Given the description of an element on the screen output the (x, y) to click on. 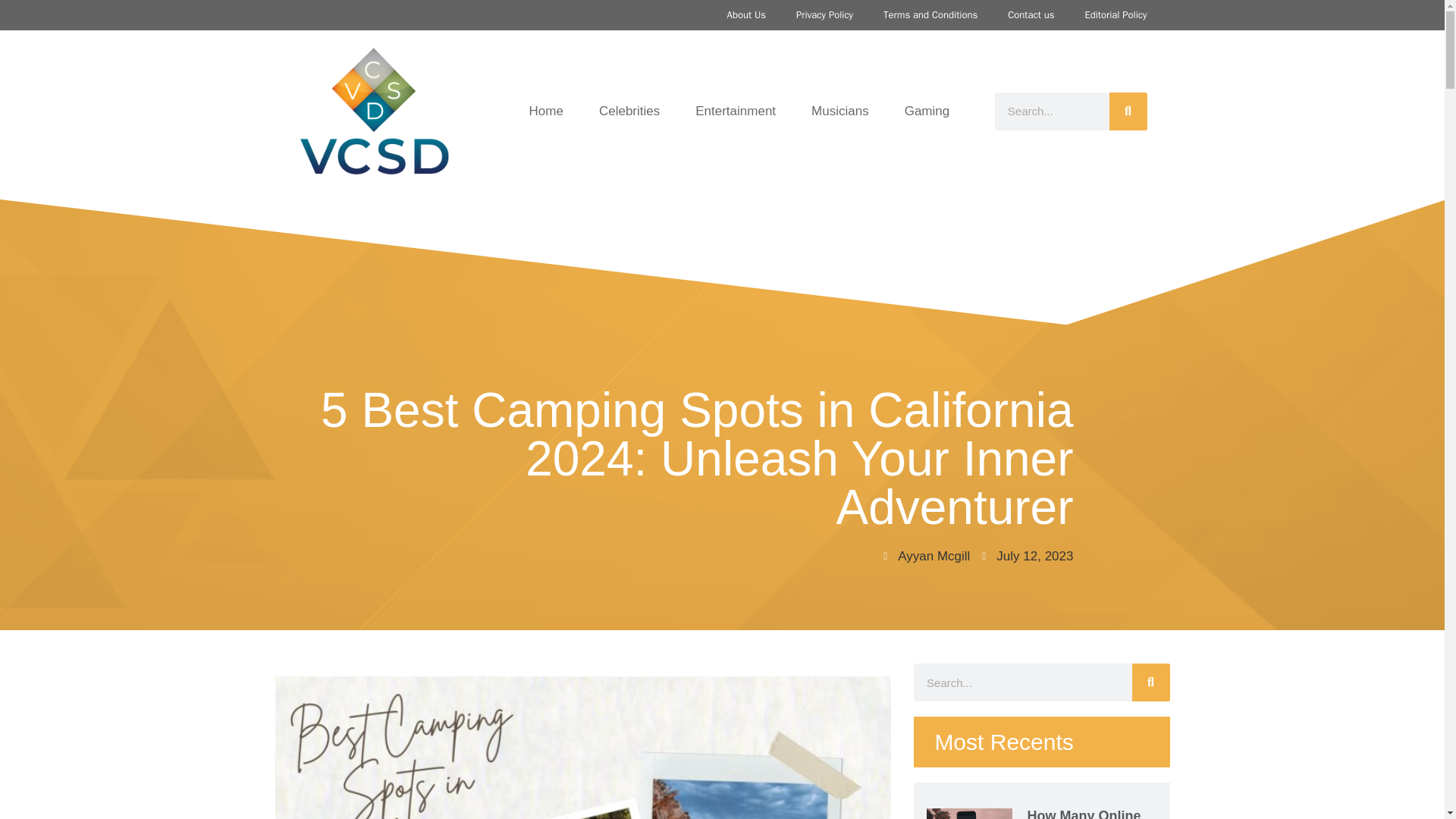
Musicians (839, 111)
July 12, 2023 (1048, 556)
Ayyan Mcgill (955, 556)
Contact us (1030, 15)
Entertainment (734, 111)
Gaming (927, 111)
How Many Online Dating Relationships Lead to Marriage (1090, 813)
Privacy Policy (823, 15)
About Us (745, 15)
Editorial Policy (1114, 15)
